Given the description of an element on the screen output the (x, y) to click on. 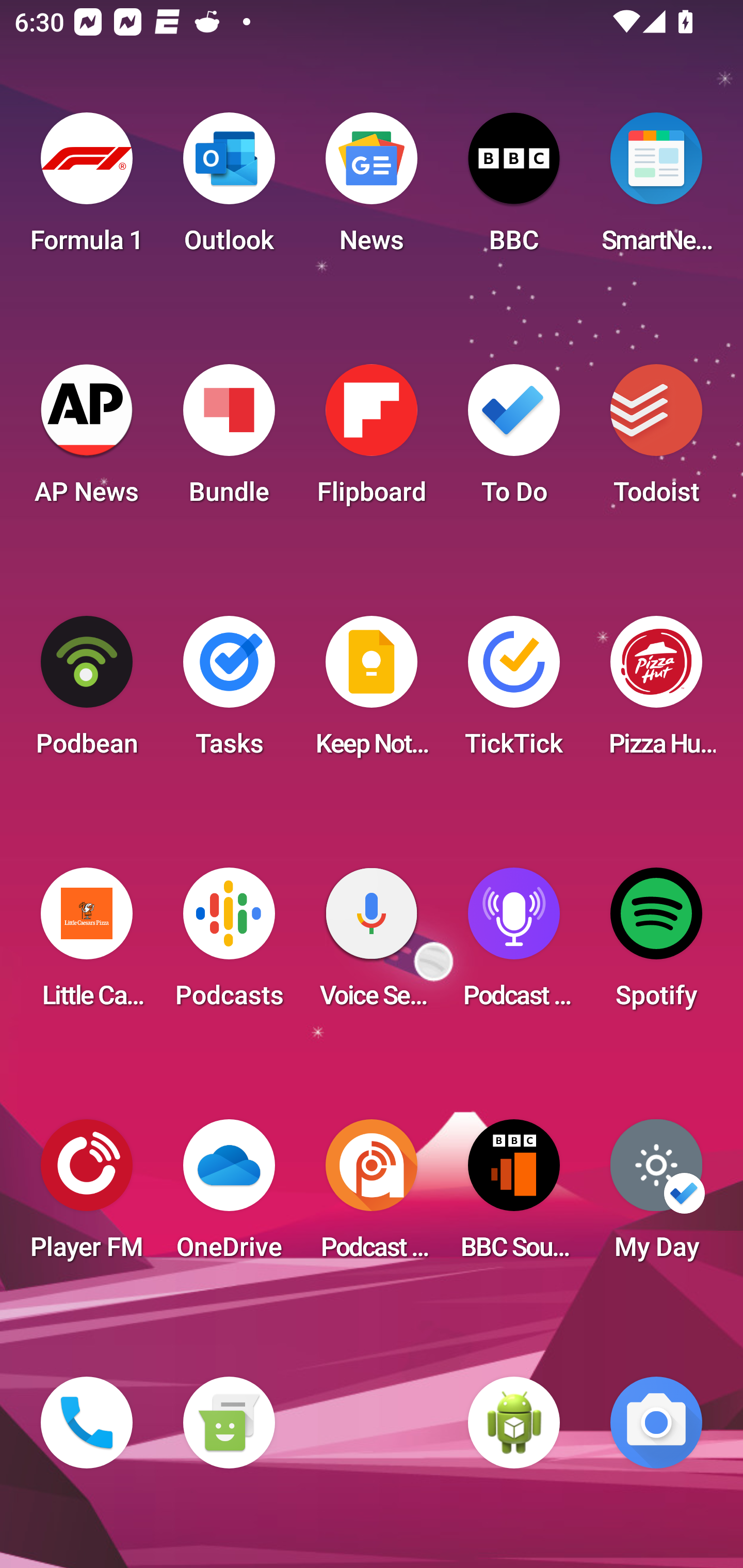
Formula 1 (86, 188)
Outlook (228, 188)
News (371, 188)
BBC (513, 188)
SmartNews (656, 188)
AP News (86, 440)
Bundle (228, 440)
Flipboard (371, 440)
To Do (513, 440)
Todoist (656, 440)
Podbean (86, 692)
Tasks (228, 692)
Keep Notes (371, 692)
TickTick (513, 692)
Pizza Hut HK & Macau (656, 692)
Little Caesars Pizza (86, 943)
Podcasts (228, 943)
Voice Search (371, 943)
Podcast Player (513, 943)
Spotify (656, 943)
Player FM (86, 1195)
OneDrive (228, 1195)
Podcast Addict (371, 1195)
BBC Sounds (513, 1195)
My Day (656, 1195)
Phone (86, 1422)
Messaging (228, 1422)
WebView Browser Tester (513, 1422)
Camera (656, 1422)
